Given the description of an element on the screen output the (x, y) to click on. 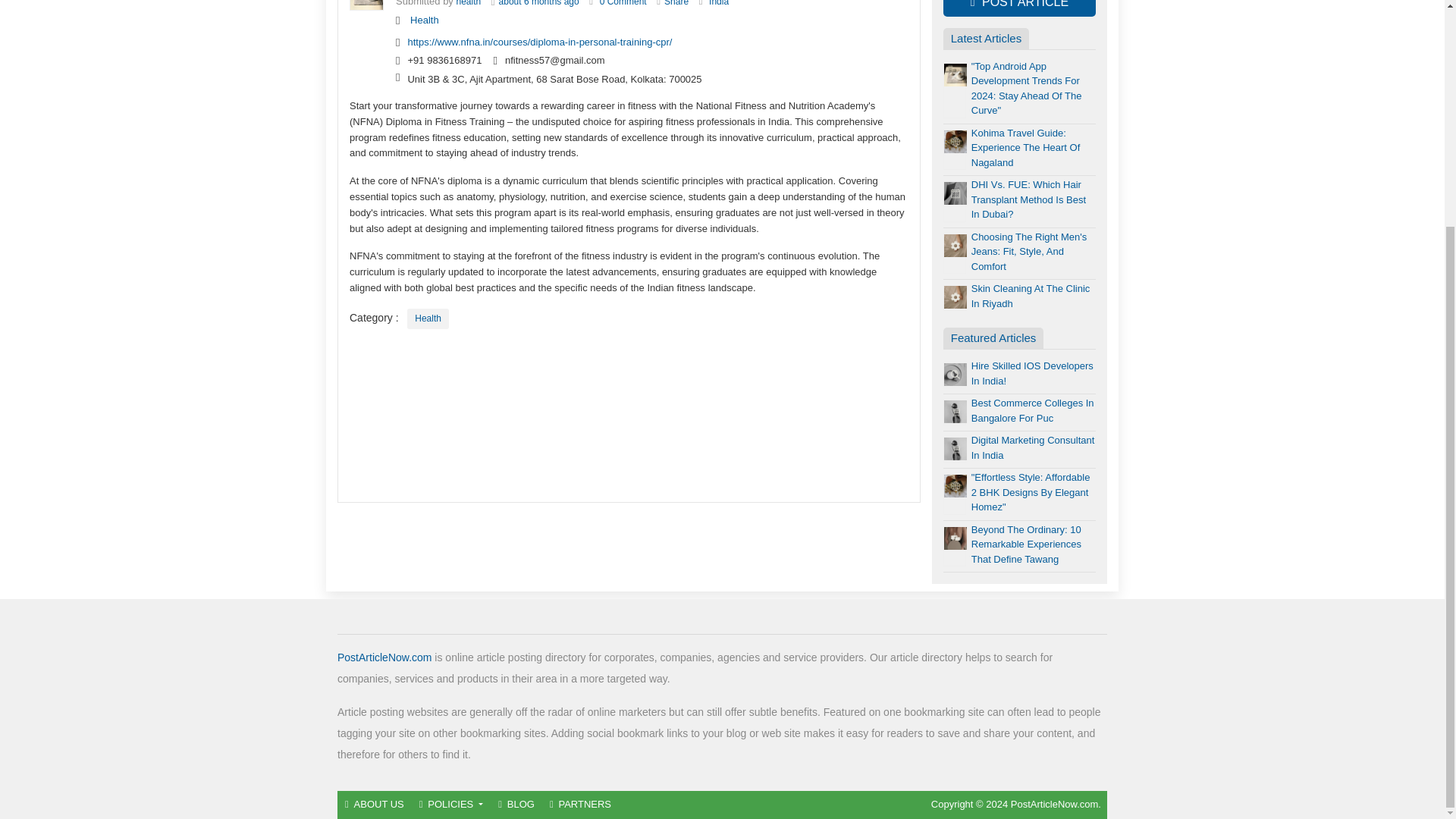
Health (424, 19)
POST ARTICLE (1019, 8)
Share (675, 3)
NutritionFitness12 (469, 3)
about 6 months ago (539, 3)
Health (424, 19)
Health (427, 318)
health (469, 3)
about 6 months ago (539, 3)
Share (675, 3)
India (719, 3)
Health (427, 318)
India (719, 3)
0 Comment (622, 3)
